Given the description of an element on the screen output the (x, y) to click on. 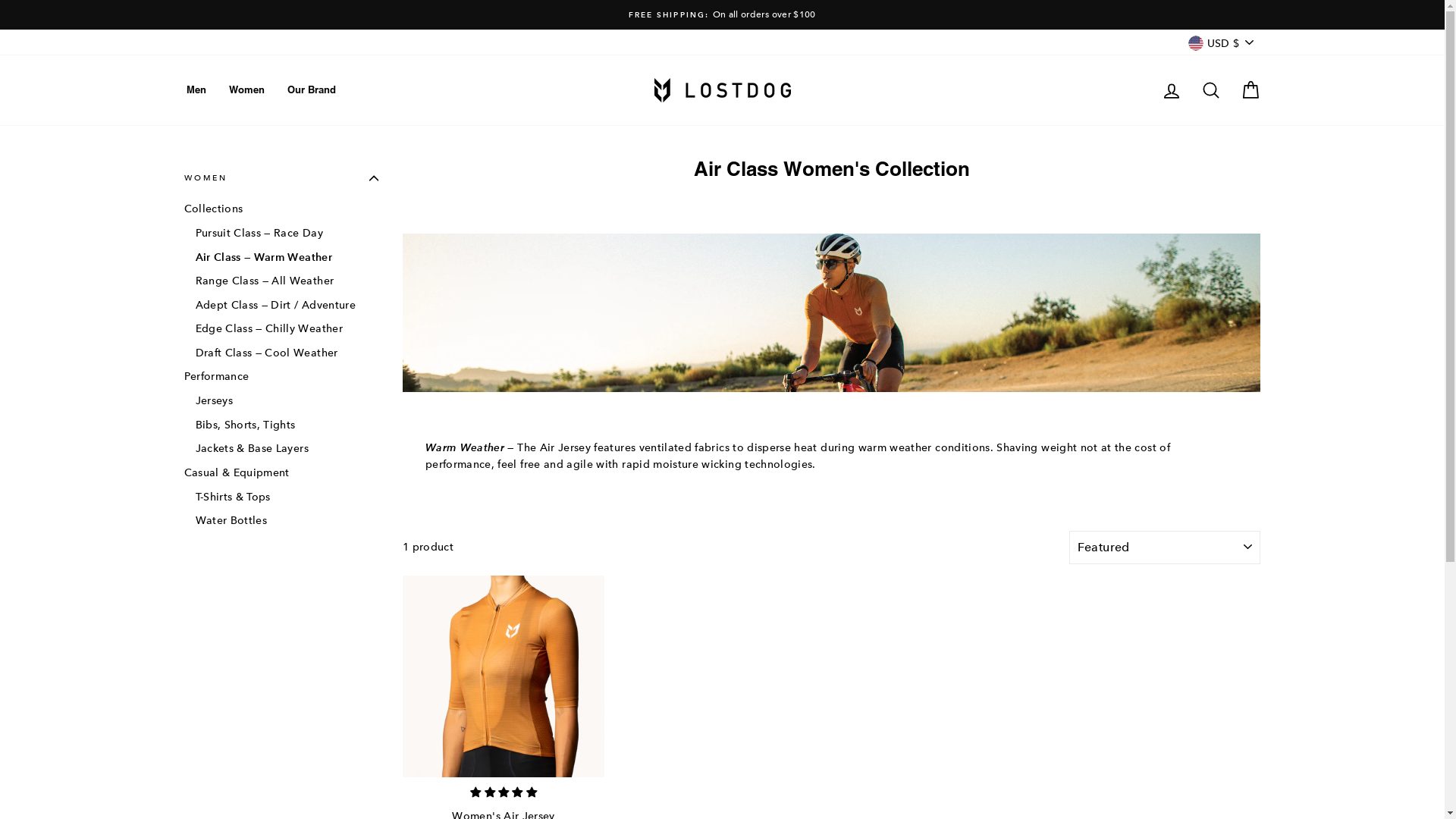
Our Brand Element type: text (311, 89)
WOMEN Element type: text (280, 178)
Cart Element type: text (1249, 89)
Casual & Equipment Element type: text (280, 471)
Collections Element type: text (280, 208)
Skip to content Element type: text (0, 0)
T-Shirts & Tops Element type: text (286, 495)
Jackets & Base Layers Element type: text (286, 447)
Men Element type: text (195, 89)
Jerseys Element type: text (286, 400)
USD $ Element type: text (1220, 42)
Bibs, Shorts, Tights Element type: text (286, 424)
Performance Element type: text (280, 375)
Water Bottles Element type: text (286, 519)
Log in Element type: text (1170, 89)
Women Element type: text (245, 89)
Search Element type: text (1210, 89)
